Given the description of an element on the screen output the (x, y) to click on. 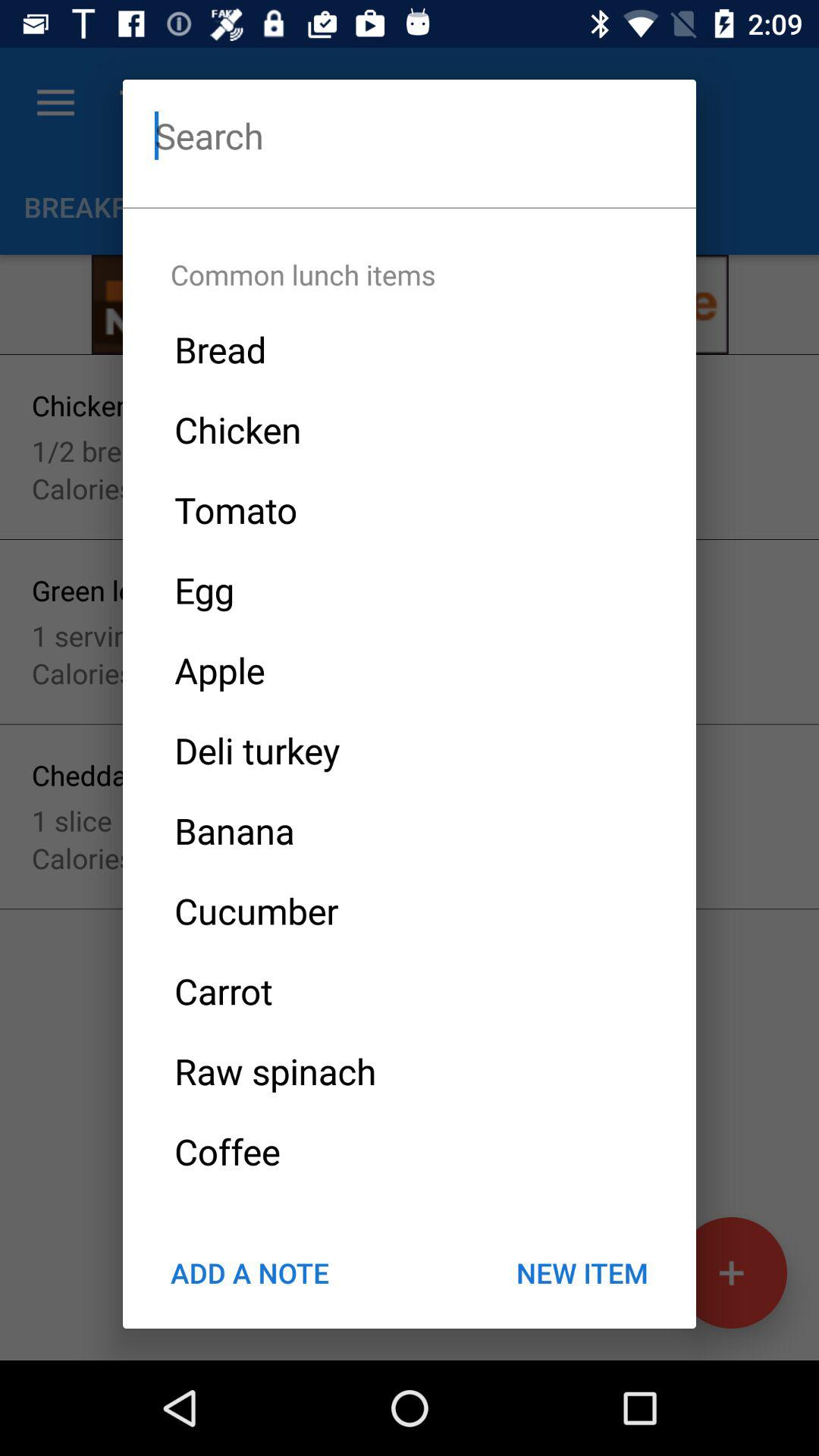
choose new item icon (582, 1272)
